Given the description of an element on the screen output the (x, y) to click on. 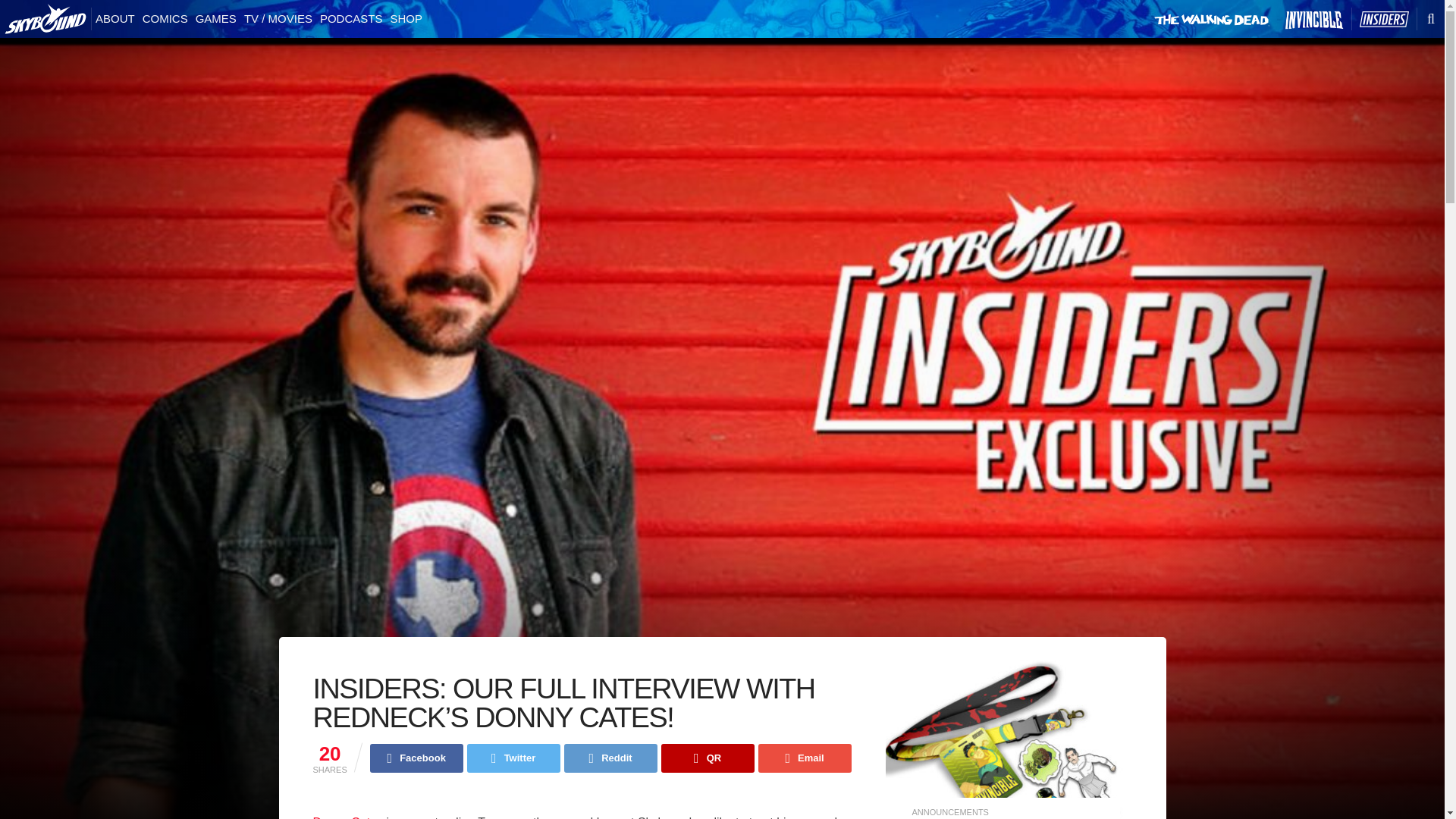
QR (707, 758)
Email (804, 758)
GAMES (215, 19)
COMICS (164, 19)
Reddit (611, 758)
SHOP (406, 19)
ANNOUNCEMENTS (949, 812)
Donny Cates (347, 817)
PODCASTS (351, 19)
Facebook (416, 758)
ABOUT (115, 19)
Twitter (513, 758)
